Given the description of an element on the screen output the (x, y) to click on. 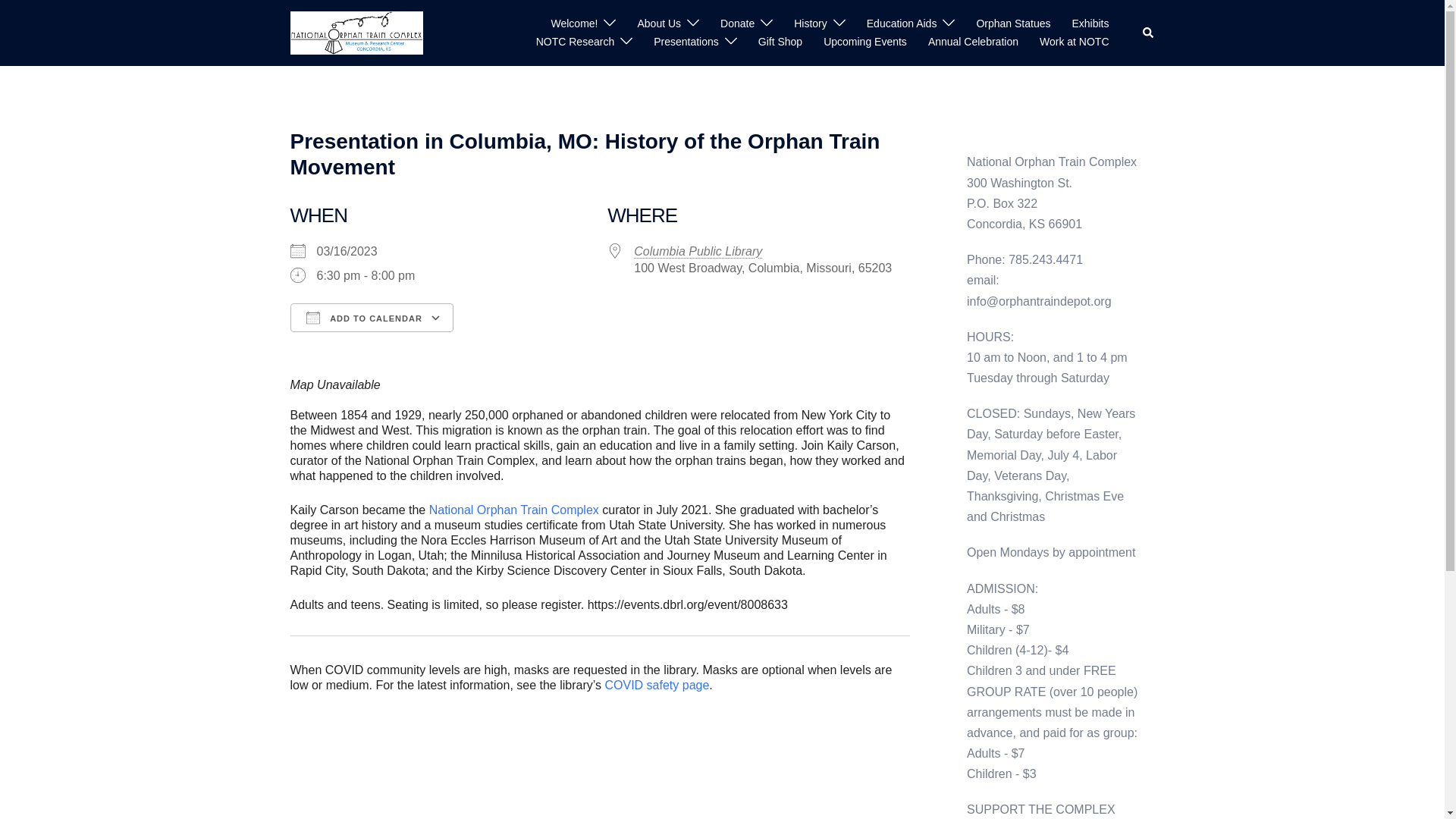
Gift Shop (780, 42)
Work at NOTC (1074, 42)
History (810, 24)
Search (1147, 33)
Education Aids (901, 24)
Welcome! (573, 24)
Presentations (686, 42)
NOTC Research (574, 42)
Exhibits (1089, 24)
About Us (659, 24)
Upcoming Events (865, 42)
Donate (737, 24)
National Orphan Train Complex (355, 31)
Orphan Statues (1012, 24)
Annual Celebration (972, 42)
